Given the description of an element on the screen output the (x, y) to click on. 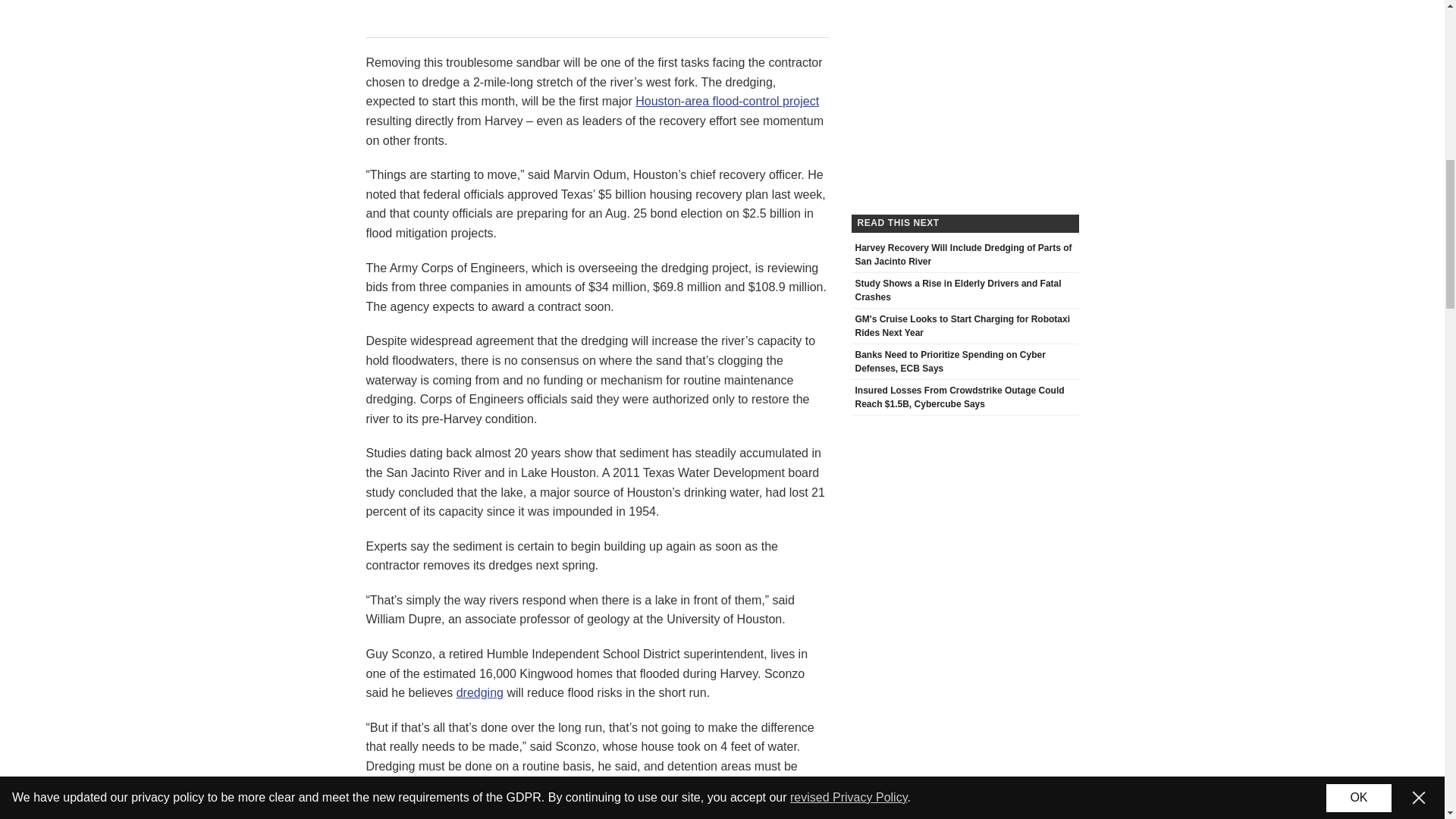
Houston-area flood-control project (726, 101)
dredging (480, 692)
